Given the description of an element on the screen output the (x, y) to click on. 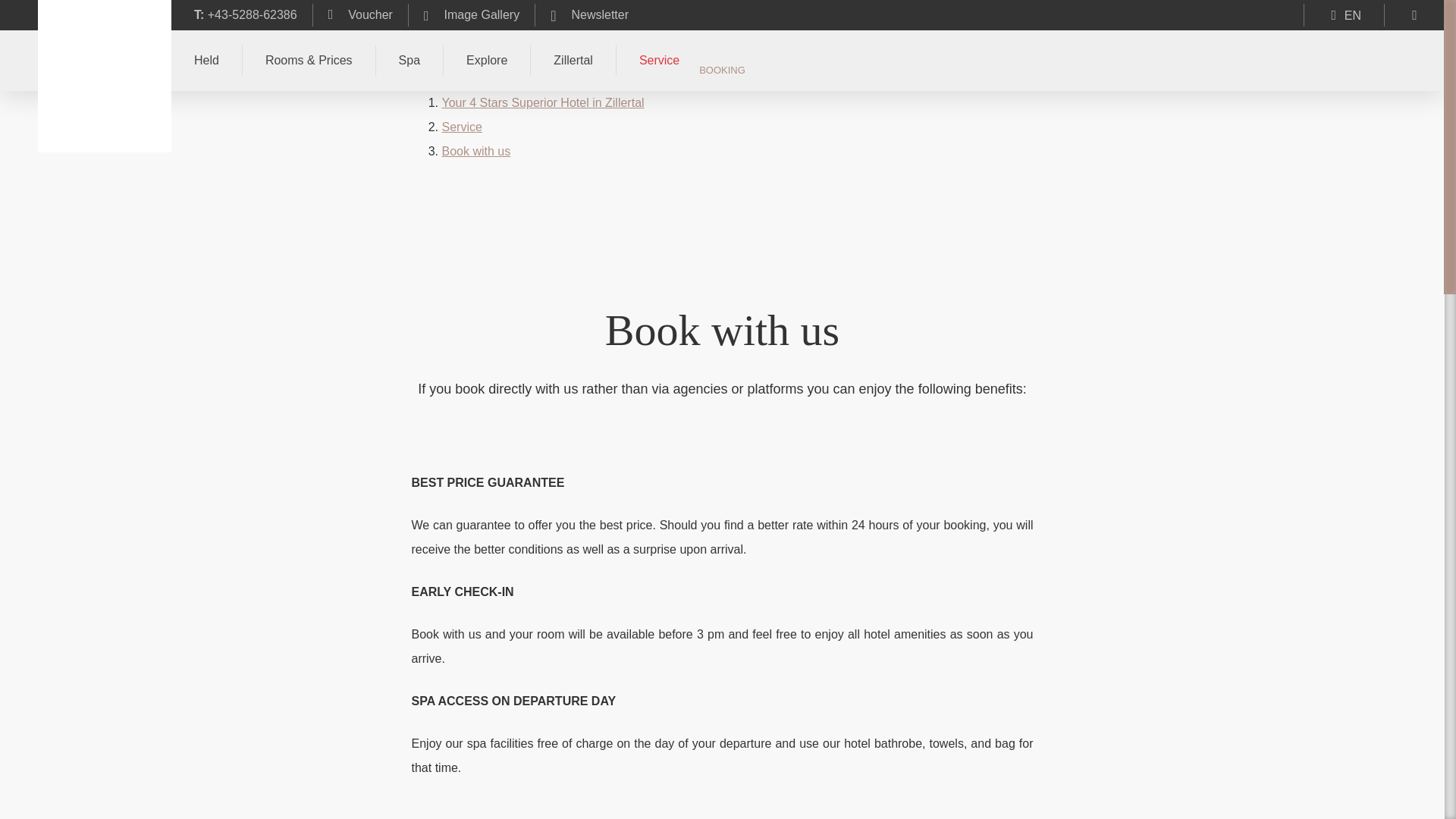
Voucher (360, 15)
Newsletter (588, 15)
Explore (485, 60)
Held (206, 60)
Image Gallery (470, 15)
Spa (408, 60)
